Given the description of an element on the screen output the (x, y) to click on. 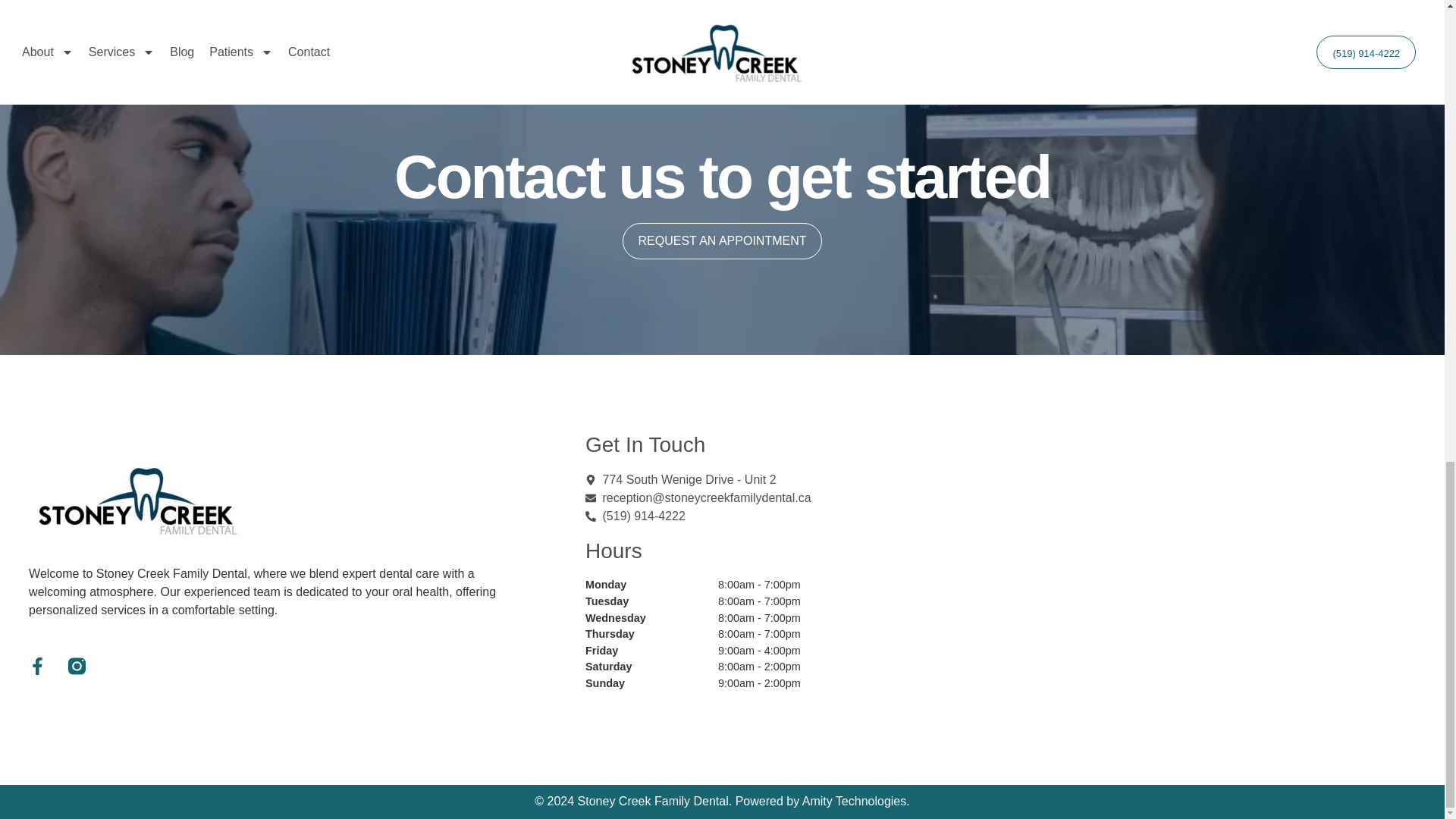
exeter family dental (1228, 569)
